Given the description of an element on the screen output the (x, y) to click on. 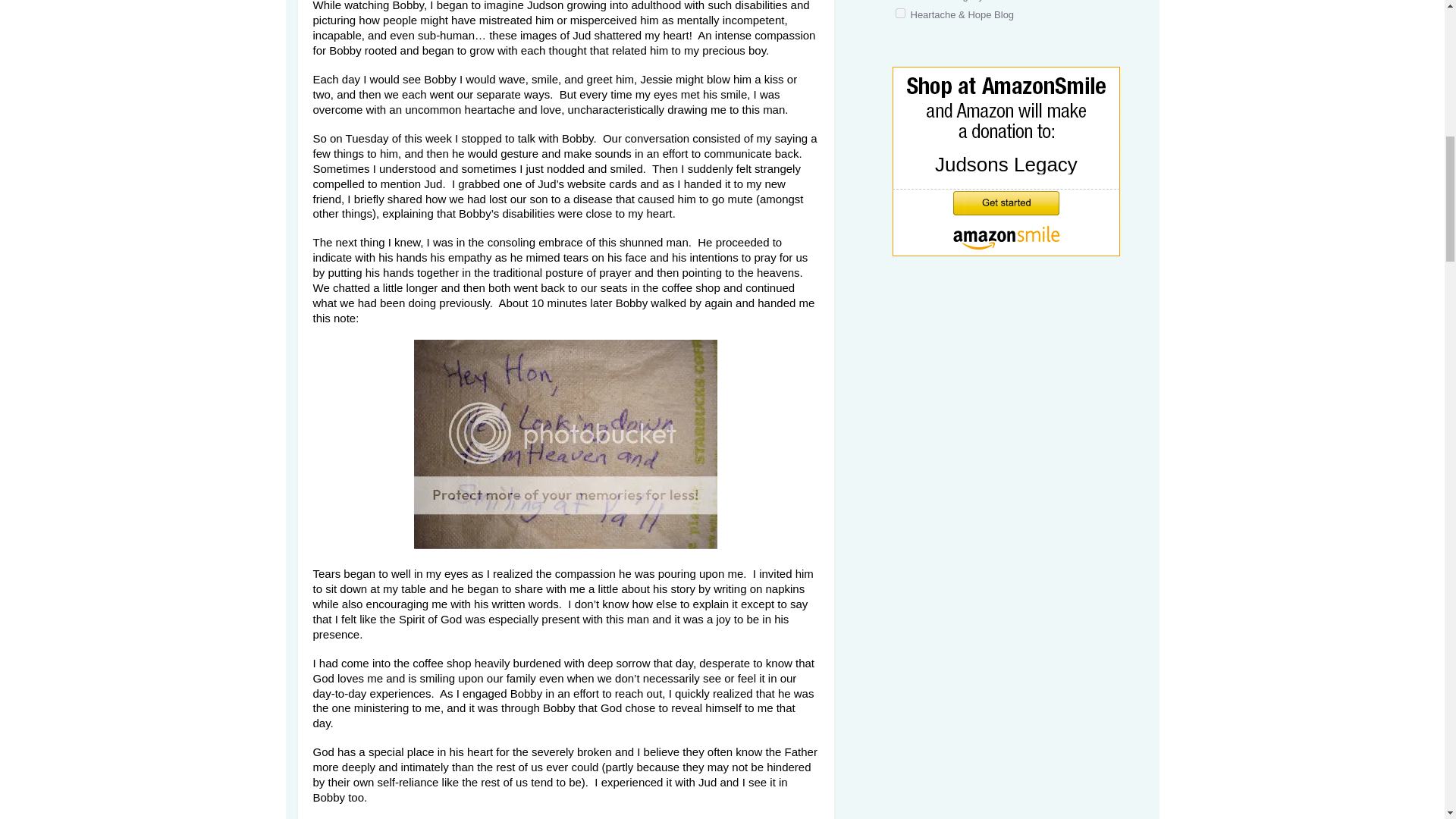
on (900, 13)
